Given the description of an element on the screen output the (x, y) to click on. 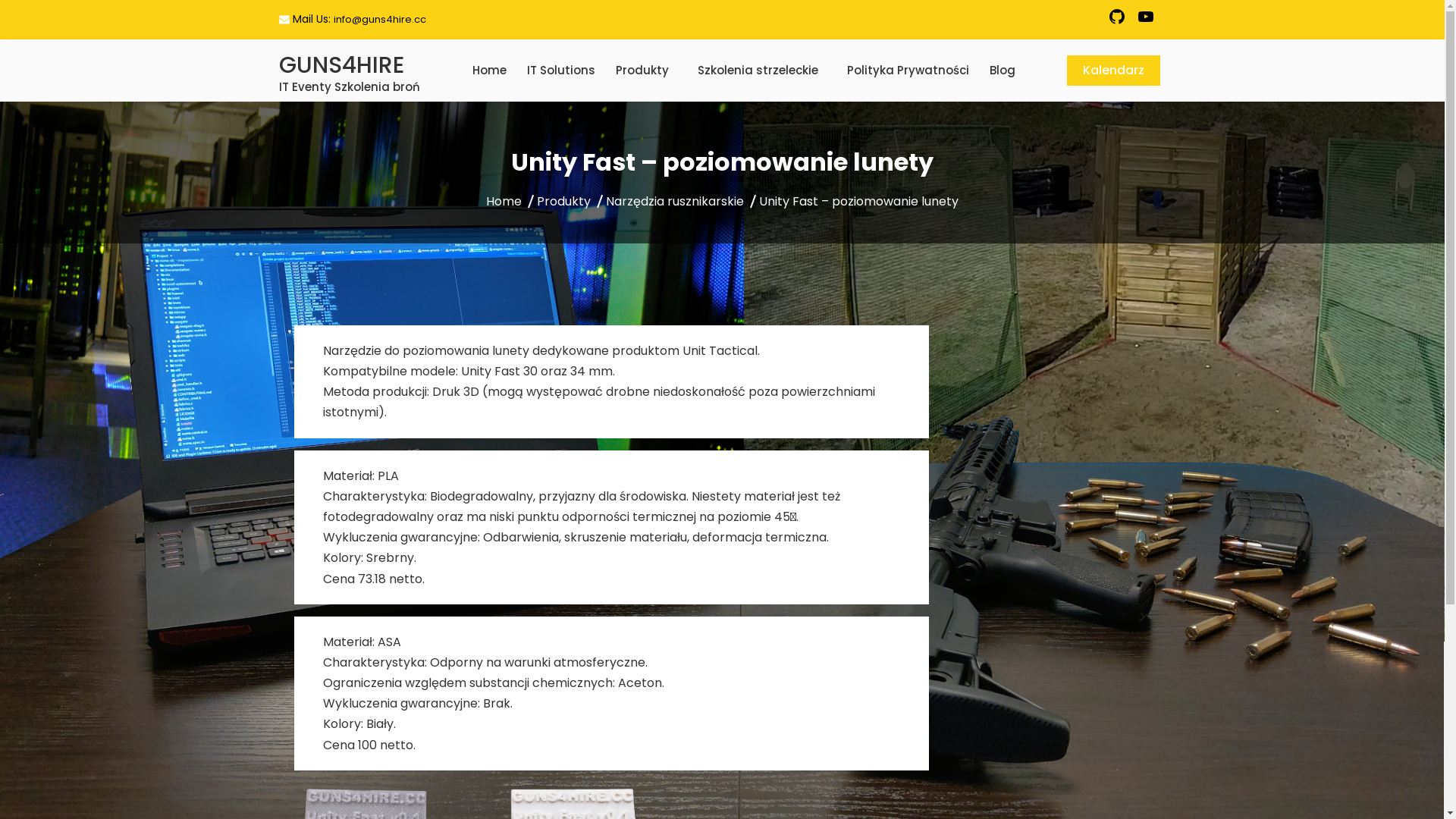
Kalendarz Element type: text (1112, 70)
info@guns4hire.cc Element type: text (379, 19)
Home Element type: text (489, 70)
Produkty Element type: text (642, 70)
GUNS4HIRE Element type: text (341, 65)
Home Element type: text (503, 201)
Blog Element type: text (1002, 70)
Produkty Element type: text (563, 201)
IT Solutions Element type: text (561, 70)
Szkolenia strzeleckie Element type: text (758, 70)
